Given the description of an element on the screen output the (x, y) to click on. 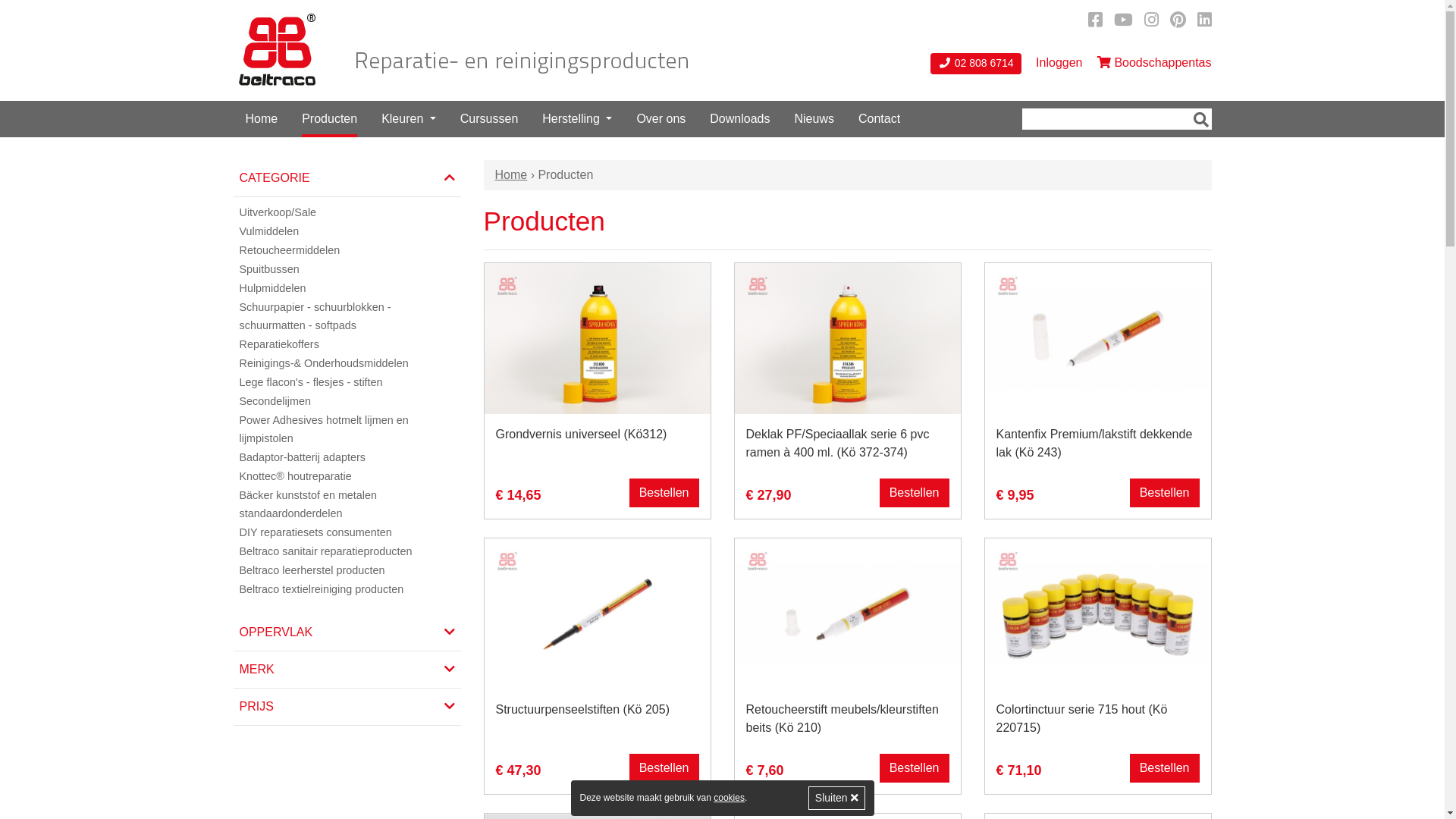
Secondelijmen Element type: text (347, 401)
Over ons Element type: text (660, 118)
Bestellen Element type: text (664, 767)
Beltraco textielreiniging producten Element type: text (347, 589)
Producten Element type: text (329, 118)
Lege flacon's - flesjes - stiften Element type: text (347, 382)
Kleuren Element type: text (408, 118)
Contact Element type: text (879, 118)
Home Element type: text (261, 118)
Spuitbussen Element type: text (347, 269)
Downloads Element type: text (739, 118)
Power Adhesives hotmelt lijmen en lijmpistolen Element type: text (347, 429)
Uitverkoop/Sale Element type: text (347, 212)
CATEGORIE Element type: text (347, 178)
Reparatiekoffers Element type: text (347, 344)
Sluiten Element type: text (836, 797)
Nieuws Element type: text (813, 118)
MERK Element type: text (347, 669)
Herstelling Element type: text (576, 118)
DIY reparatiesets consumenten Element type: text (347, 532)
Inloggen Element type: text (1058, 62)
Reinigings-& Onderhoudsmiddelen Element type: text (347, 363)
OPPERVLAK Element type: text (347, 632)
cookies Element type: text (728, 797)
Badaptor-batterij adapters Element type: text (347, 457)
Home Element type: text (510, 174)
Retoucheermiddelen Element type: text (347, 250)
Hulpmiddelen Element type: text (347, 288)
Beltraco sanitair reparatieproducten Element type: text (347, 551)
Bestellen Element type: text (914, 767)
Bestellen Element type: text (664, 492)
Bestellen Element type: text (1164, 492)
Beltraco leerherstel producten Element type: text (347, 570)
Bestellen Element type: text (914, 492)
PRIJS Element type: text (347, 706)
Boodschappentas Element type: text (1154, 62)
Vulmiddelen Element type: text (347, 231)
Bestellen Element type: text (1164, 767)
Schuurpapier - schuurblokken - schuurmatten - softpads Element type: text (347, 316)
Cursussen Element type: text (488, 118)
